Given the description of an element on the screen output the (x, y) to click on. 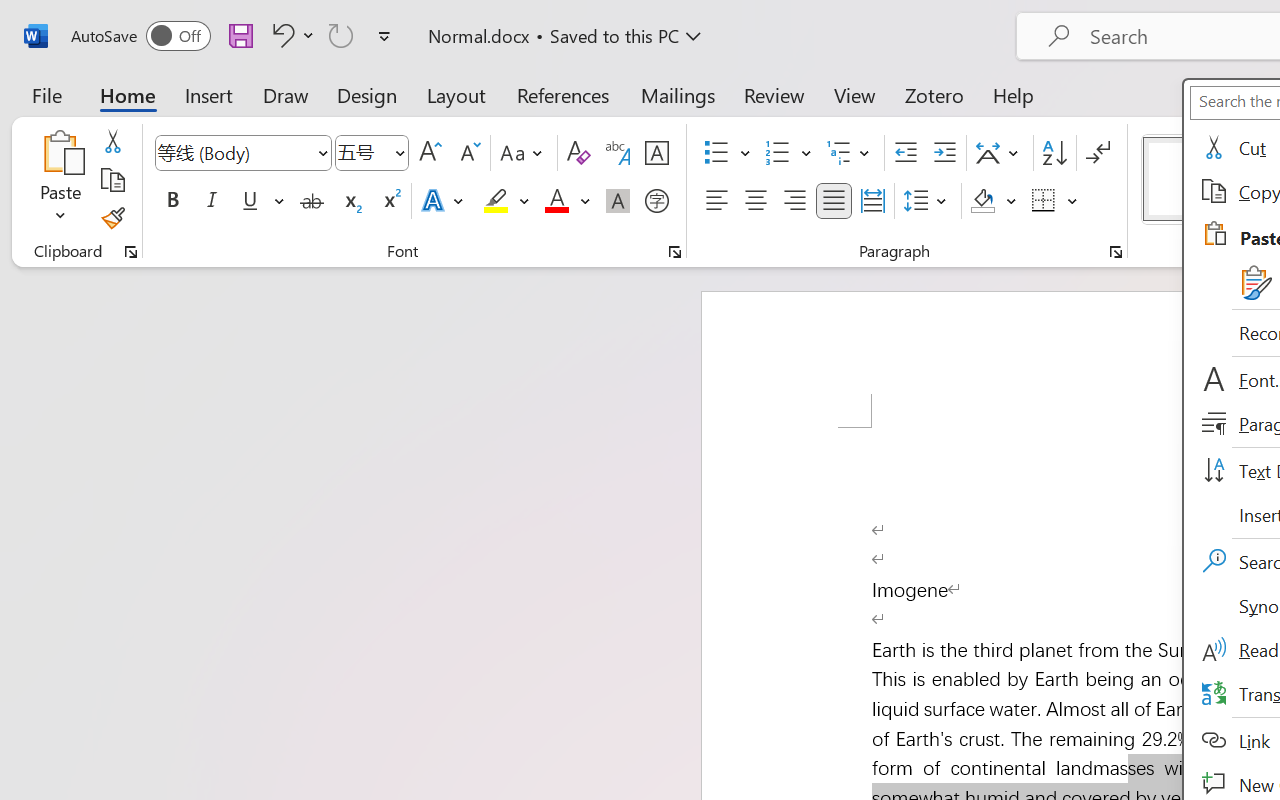
Open (399, 152)
Phonetic Guide... (618, 153)
Decrease Indent (906, 153)
Font Color Red (556, 201)
Justify (834, 201)
Format Painter (112, 218)
Font... (675, 252)
Shrink Font (468, 153)
Grow Font (430, 153)
Superscript (390, 201)
Can't Repeat (341, 35)
Text Effects and Typography (444, 201)
Subscript (350, 201)
Line and Paragraph Spacing (927, 201)
